Given the description of an element on the screen output the (x, y) to click on. 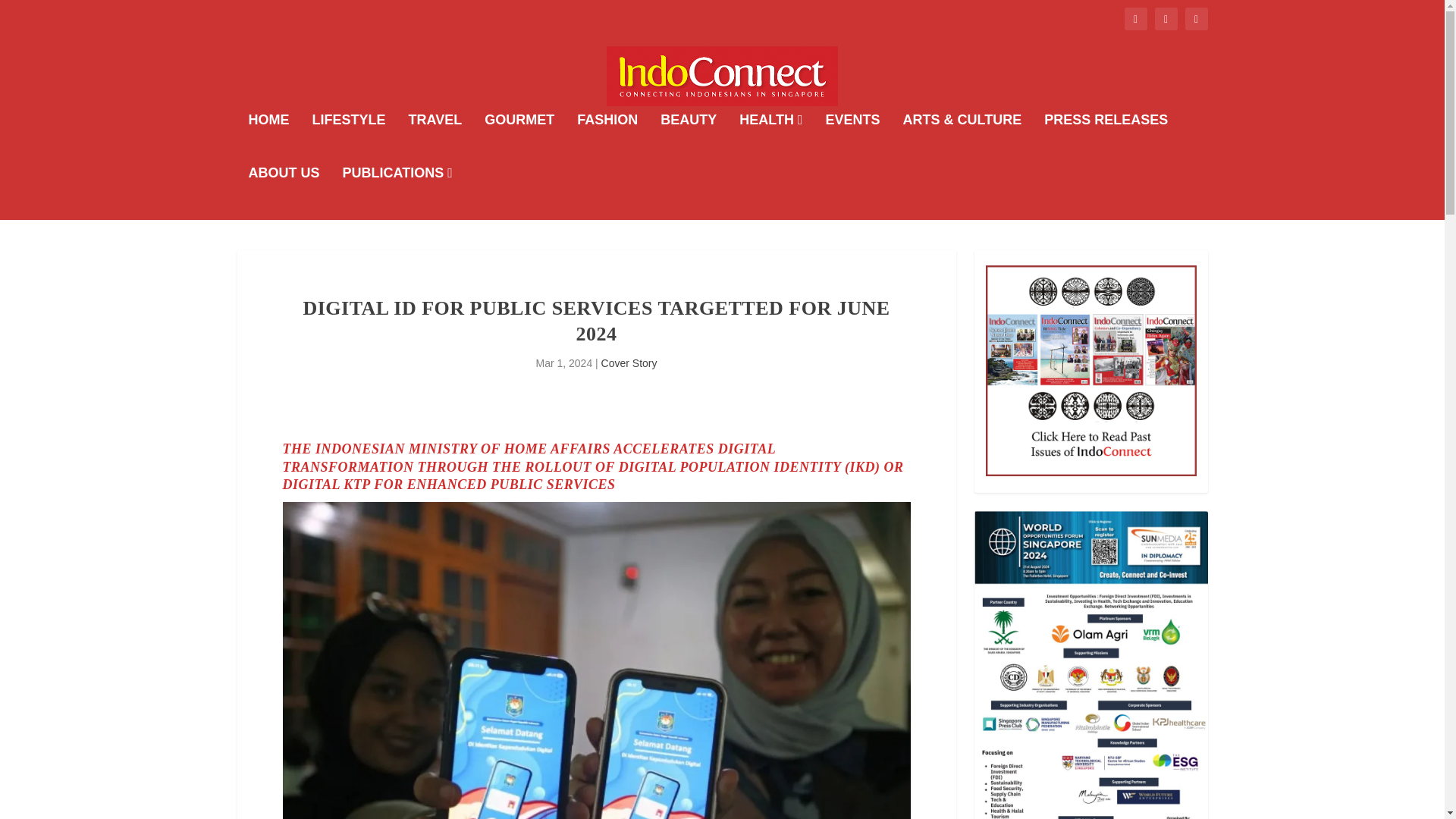
GOURMET (519, 140)
FASHION (606, 140)
BEAUTY (688, 140)
ABOUT US (284, 193)
Cover Story (629, 363)
LIFESTYLE (349, 140)
PRESS RELEASES (1105, 140)
PUBLICATIONS (397, 193)
TRAVEL (436, 140)
EVENTS (852, 140)
